Given the description of an element on the screen output the (x, y) to click on. 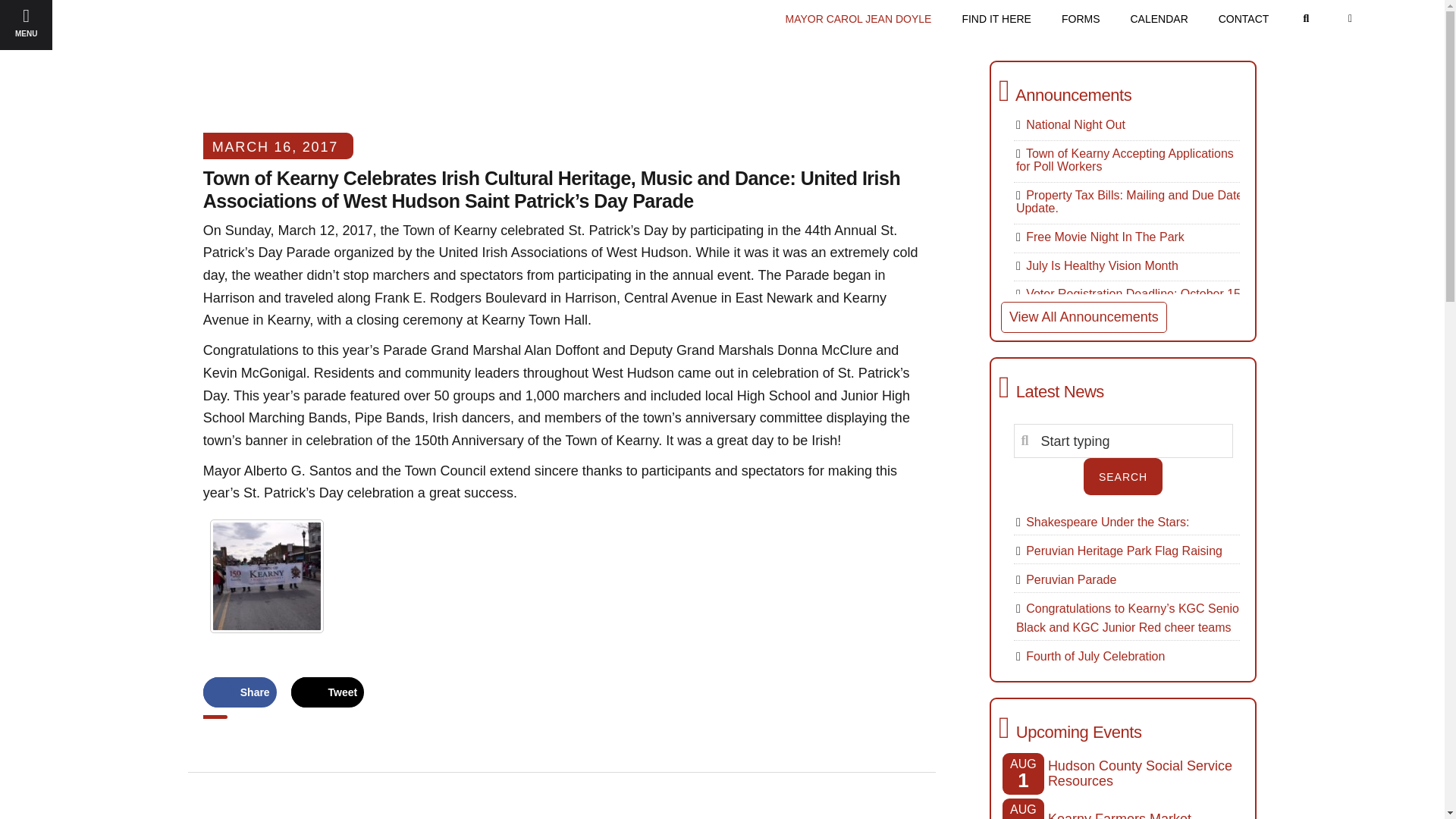
Search (1122, 476)
MAYOR CAROL JEAN DOYLE (858, 18)
Town Of Kearny Website (139, 47)
